Given the description of an element on the screen output the (x, y) to click on. 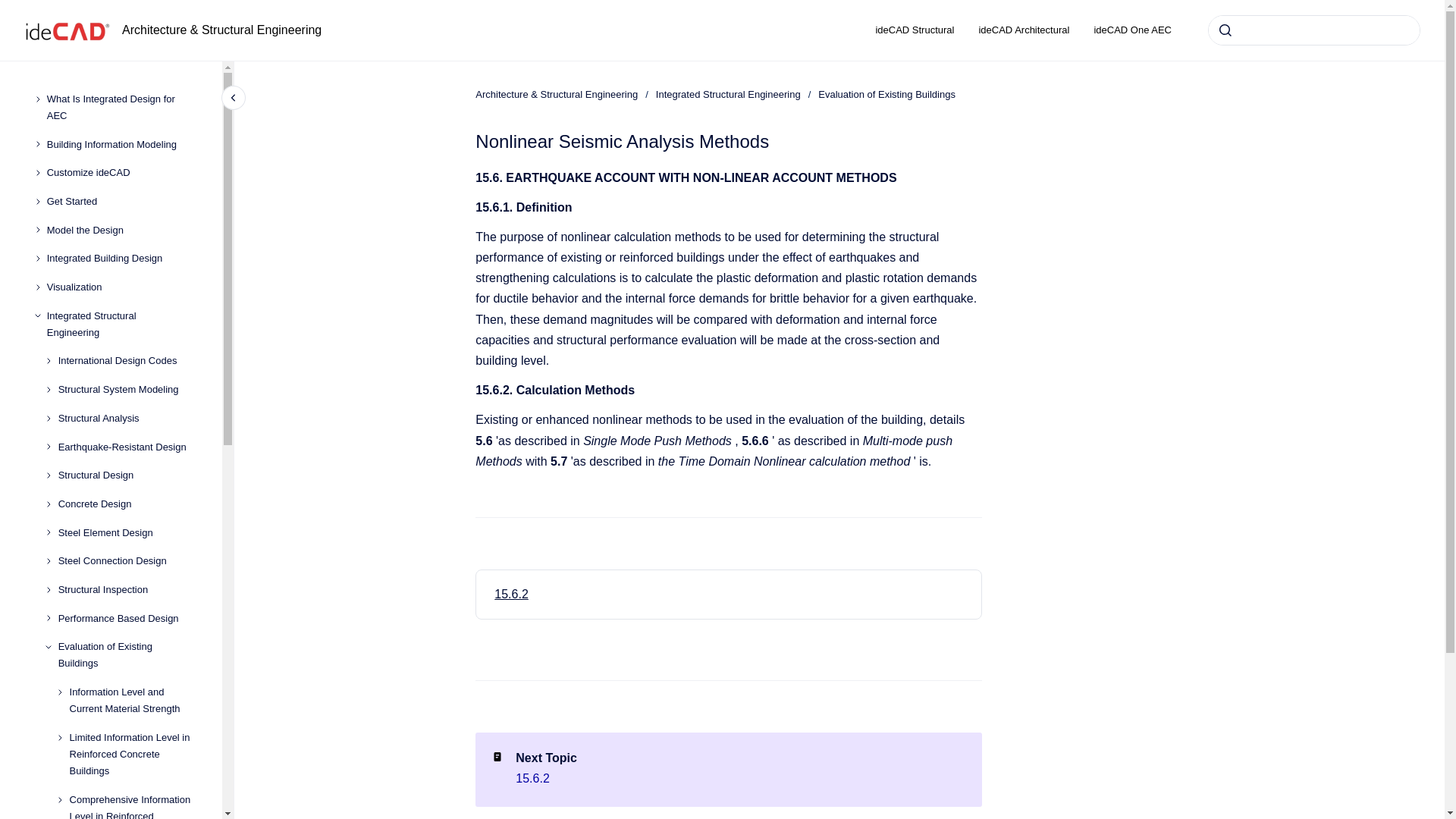
ideCAD Structural (914, 29)
Model the Design (122, 230)
Visualization (122, 287)
Customize ideCAD (122, 172)
Structural System Modeling (128, 389)
Go to homepage (67, 30)
Concrete Design (128, 503)
Earthquake-Resistant Design (128, 447)
Structural Analysis (128, 418)
International Design Codes (128, 361)
